Given the description of an element on the screen output the (x, y) to click on. 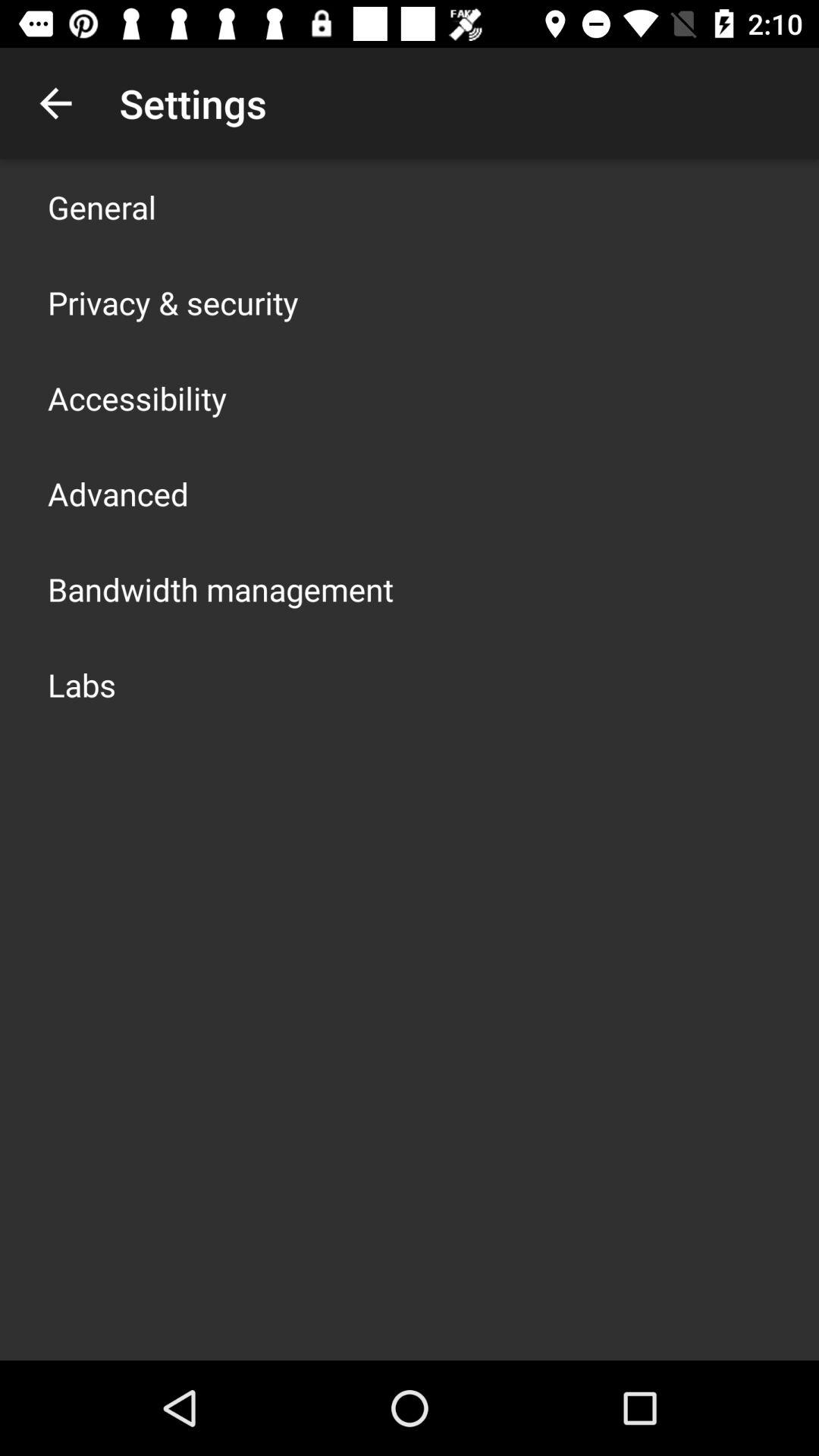
press the app below the privacy & security item (136, 397)
